Given the description of an element on the screen output the (x, y) to click on. 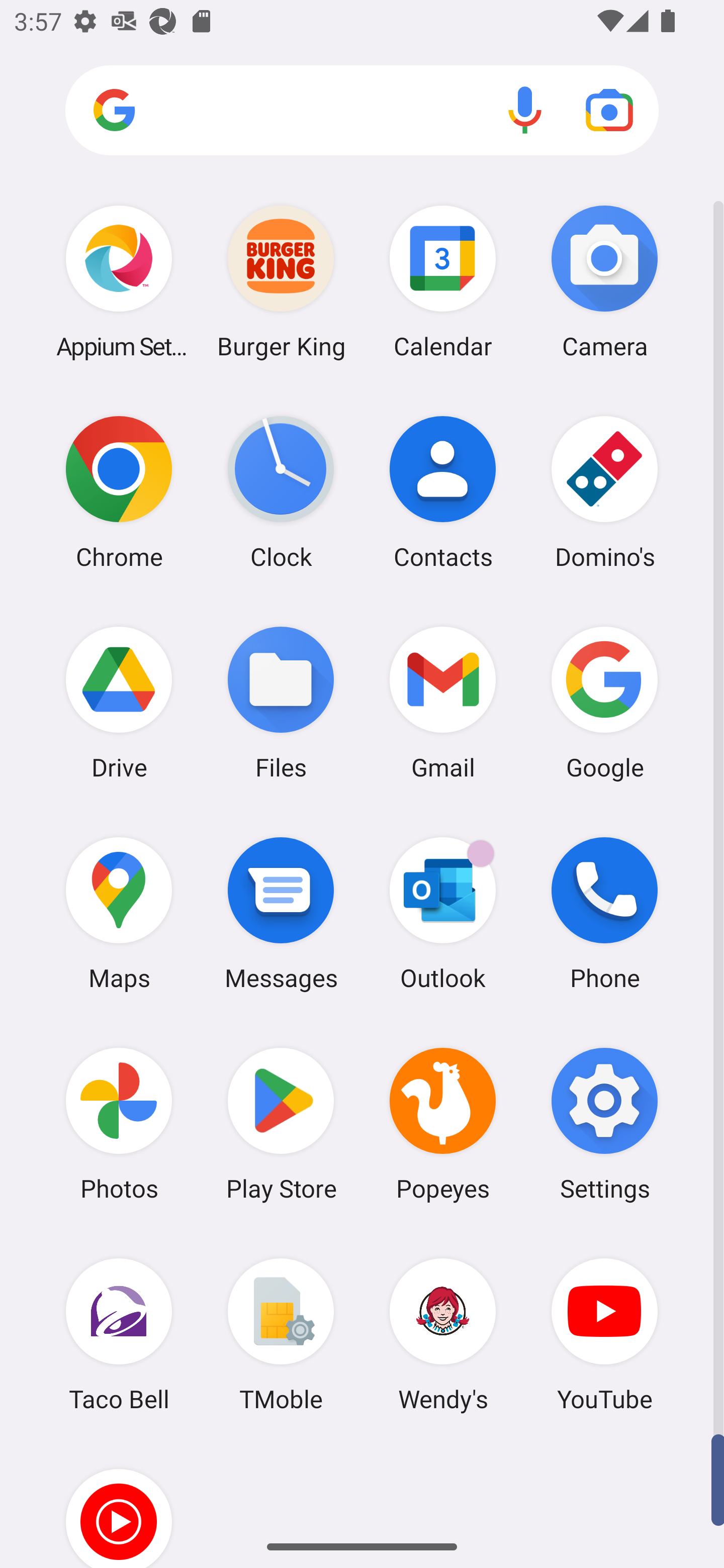
Search apps, web and more (361, 110)
Voice search (524, 109)
Google Lens (608, 109)
Appium Settings (118, 281)
Burger King (280, 281)
Calendar (443, 281)
Camera (604, 281)
Chrome (118, 492)
Clock (280, 492)
Contacts (443, 492)
Domino's (604, 492)
Drive (118, 702)
Files (280, 702)
Gmail (443, 702)
Google (604, 702)
Maps (118, 913)
Messages (280, 913)
Outlook Outlook has 1 notification (443, 913)
Phone (604, 913)
Photos (118, 1124)
Play Store (280, 1124)
Popeyes (443, 1124)
Settings (604, 1124)
Taco Bell (118, 1334)
TMoble (280, 1334)
Wendy's (443, 1334)
YouTube (604, 1334)
YT Music (118, 1503)
